Given the description of an element on the screen output the (x, y) to click on. 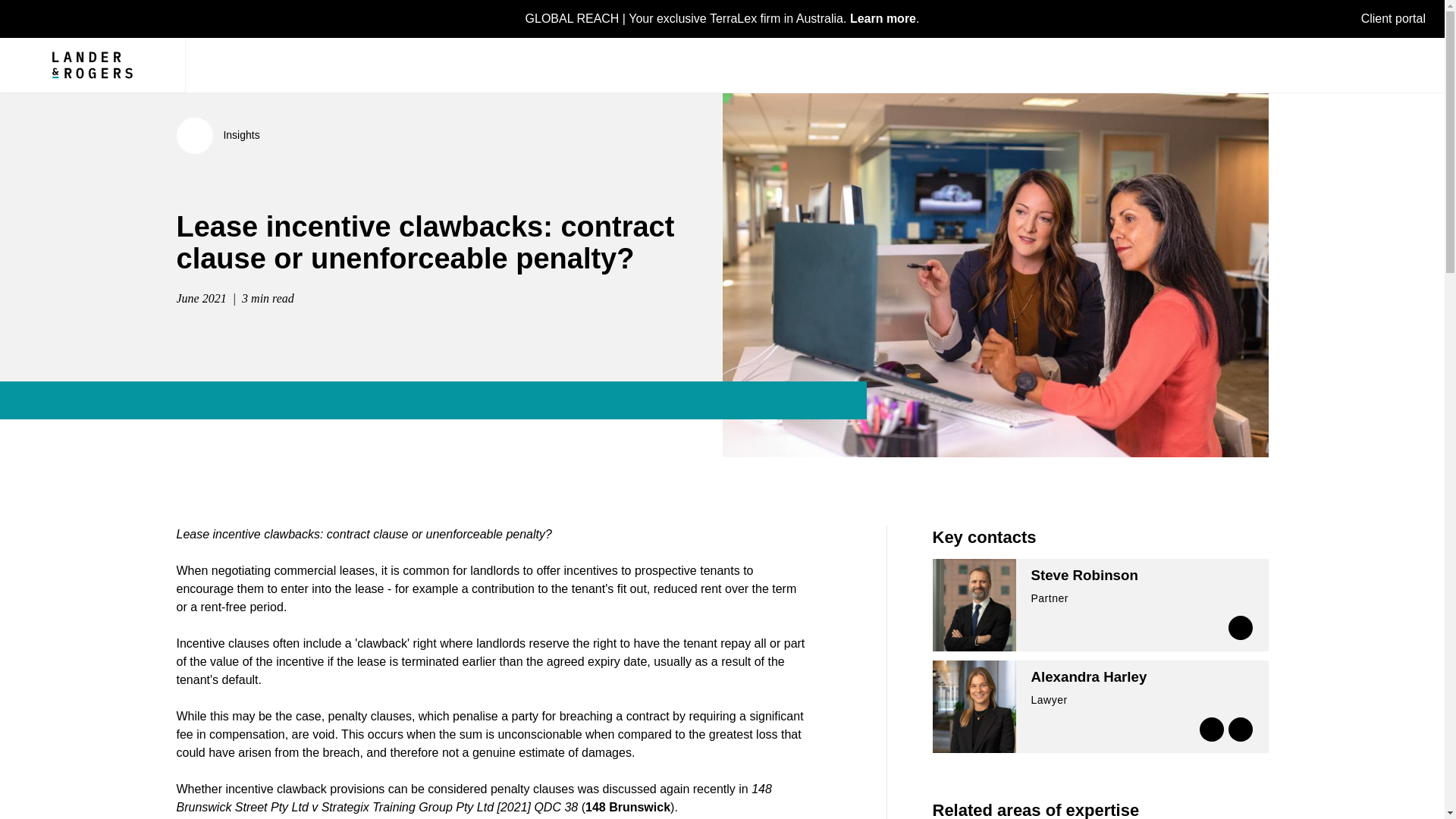
Steve Robinson (1084, 575)
TerraLex global network (722, 18)
